Given the description of an element on the screen output the (x, y) to click on. 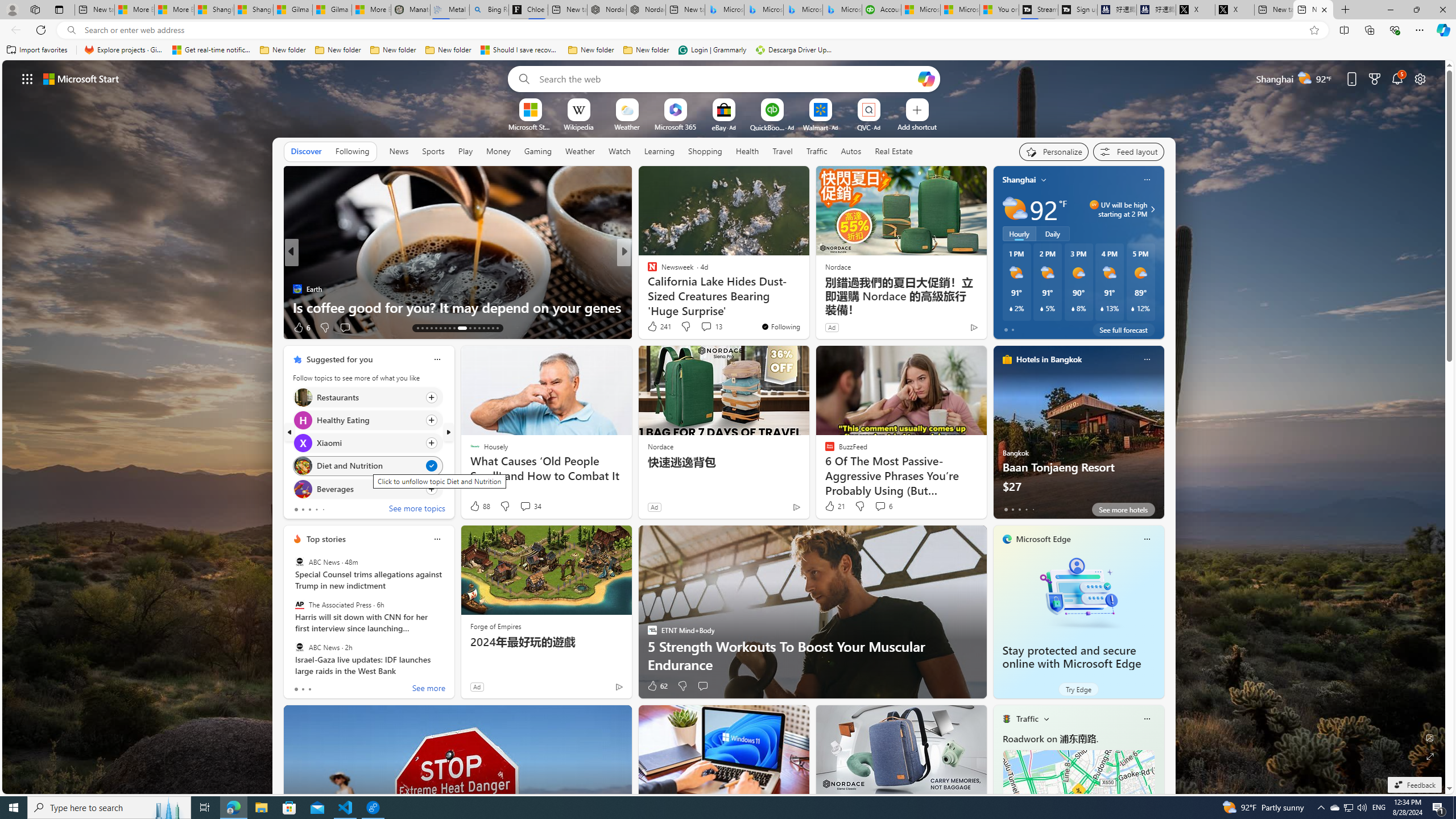
Real Estate (893, 151)
Click to follow topic Healthy Eating (367, 419)
View comments 13 Comment (710, 326)
